Given the description of an element on the screen output the (x, y) to click on. 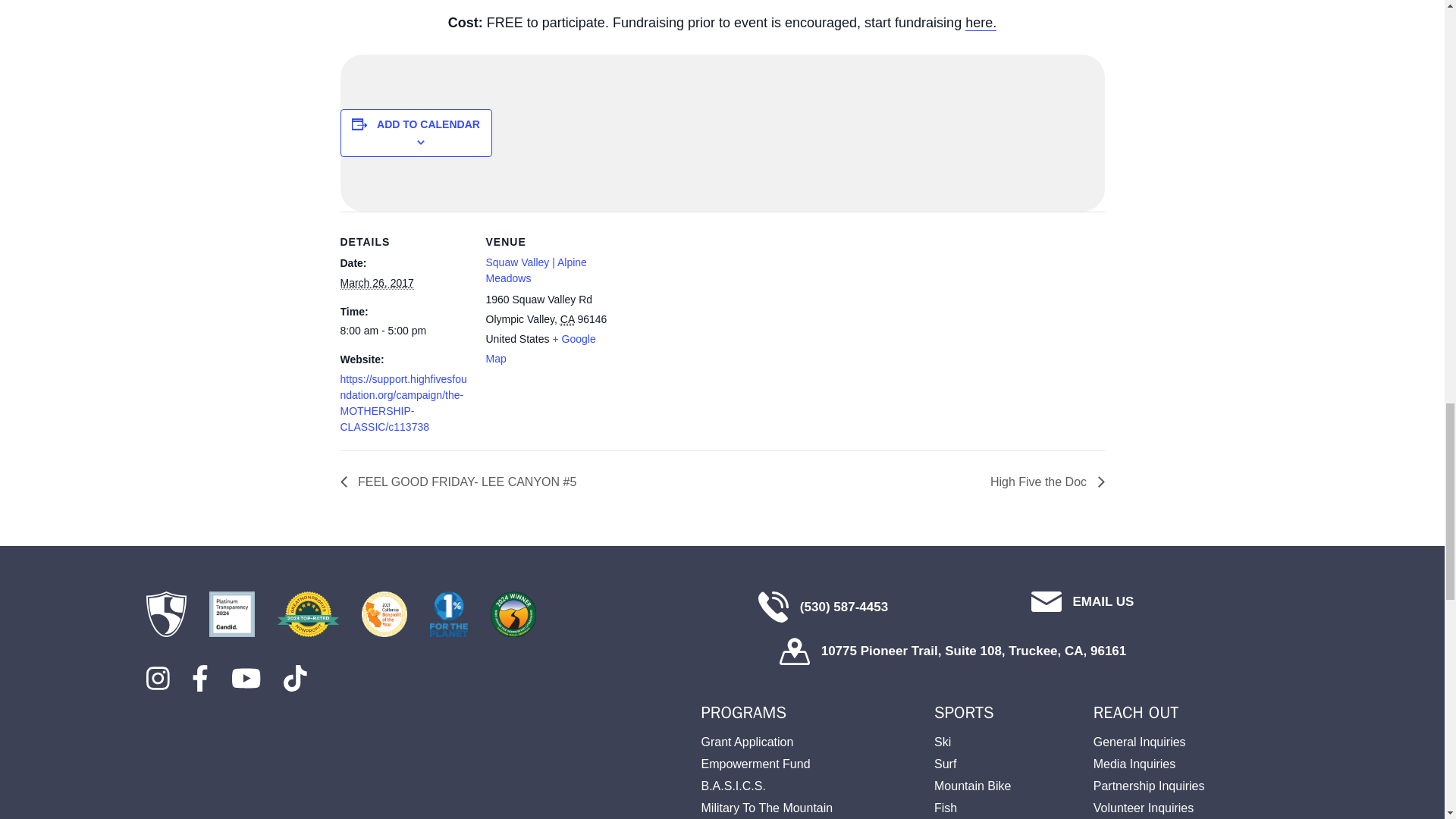
California (567, 318)
2017-03-26 (376, 282)
Click to view a Google Map (539, 348)
High Fives Foundation (165, 614)
2021 California Non-Profit of the Year (384, 614)
One Percent for the Planet (448, 614)
GuideStar Platinum Transparency Award (231, 614)
2017-03-26 (403, 330)
2023 Top-rated nonprofits and charities award (308, 614)
